Given the description of an element on the screen output the (x, y) to click on. 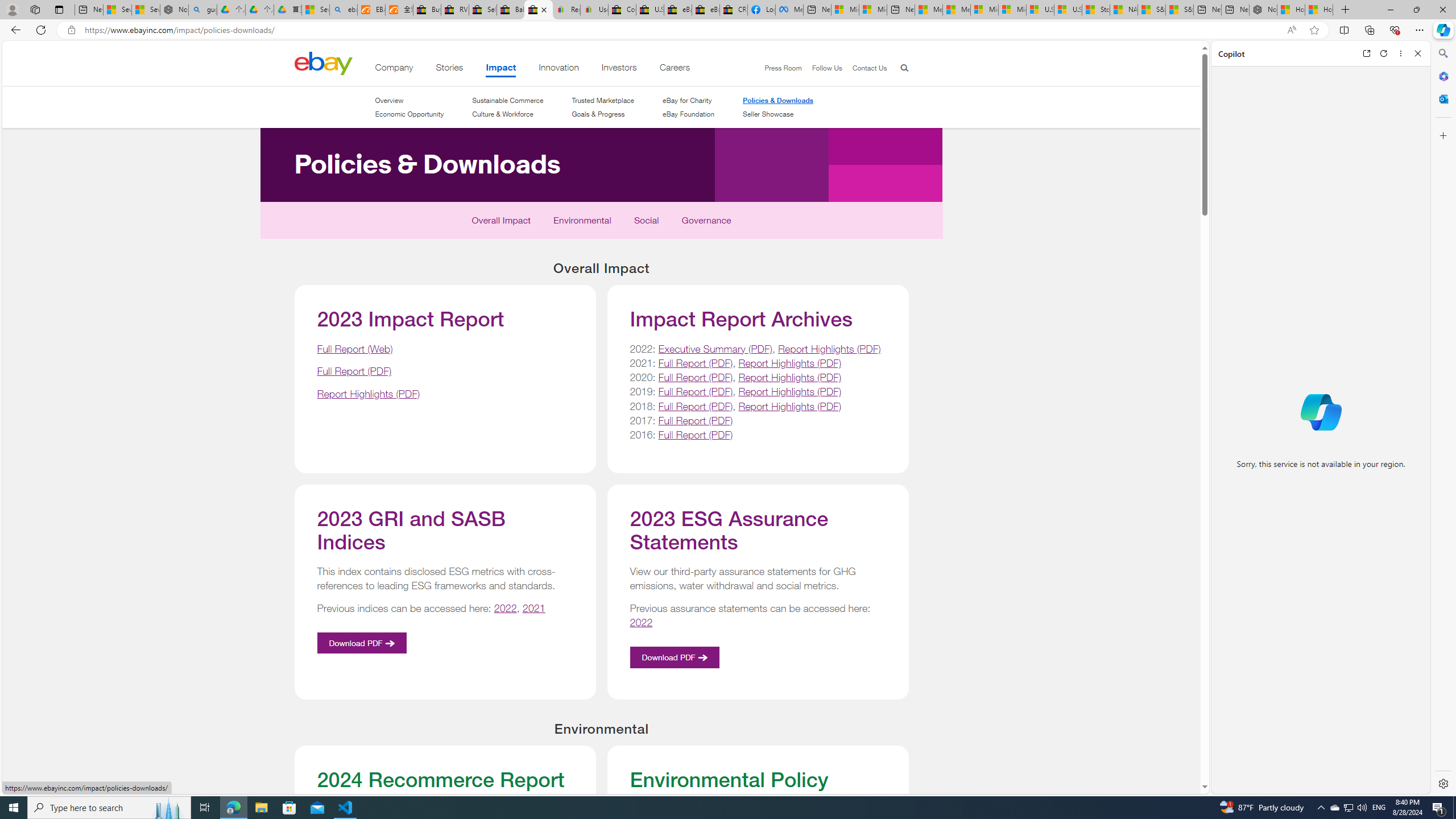
Innovation (558, 69)
Goals & Progress (603, 113)
Log into Facebook (761, 9)
Stories (449, 69)
Overall Impact (501, 222)
Environmental (582, 222)
Policies & Downloads (361, 225)
Culture & Workforce (507, 113)
